Given the description of an element on the screen output the (x, y) to click on. 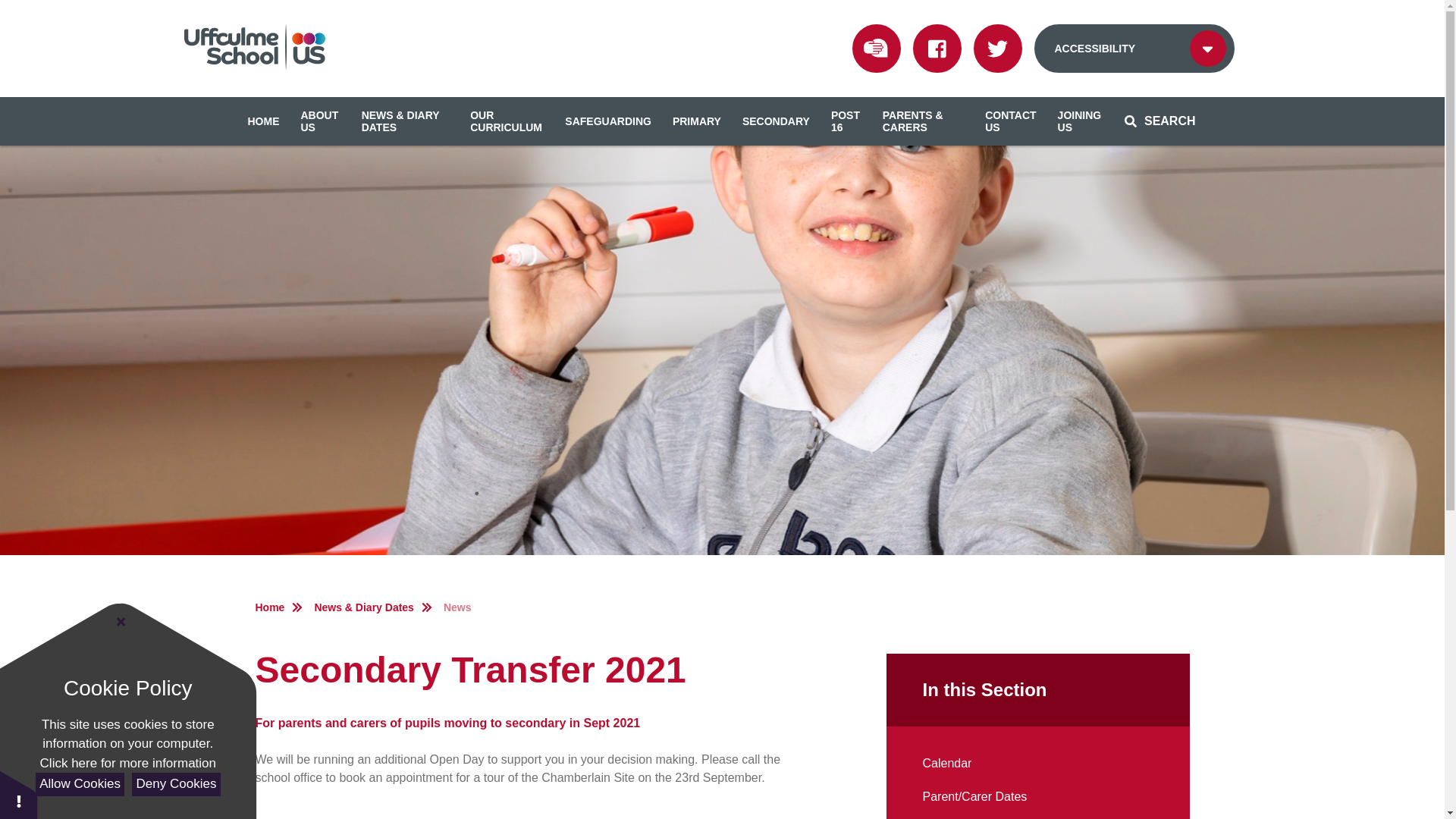
ABOUT US (319, 121)
Allow Cookies (78, 784)
HOME (262, 121)
See cookie policy (127, 763)
Deny Cookies (175, 784)
